Given the description of an element on the screen output the (x, y) to click on. 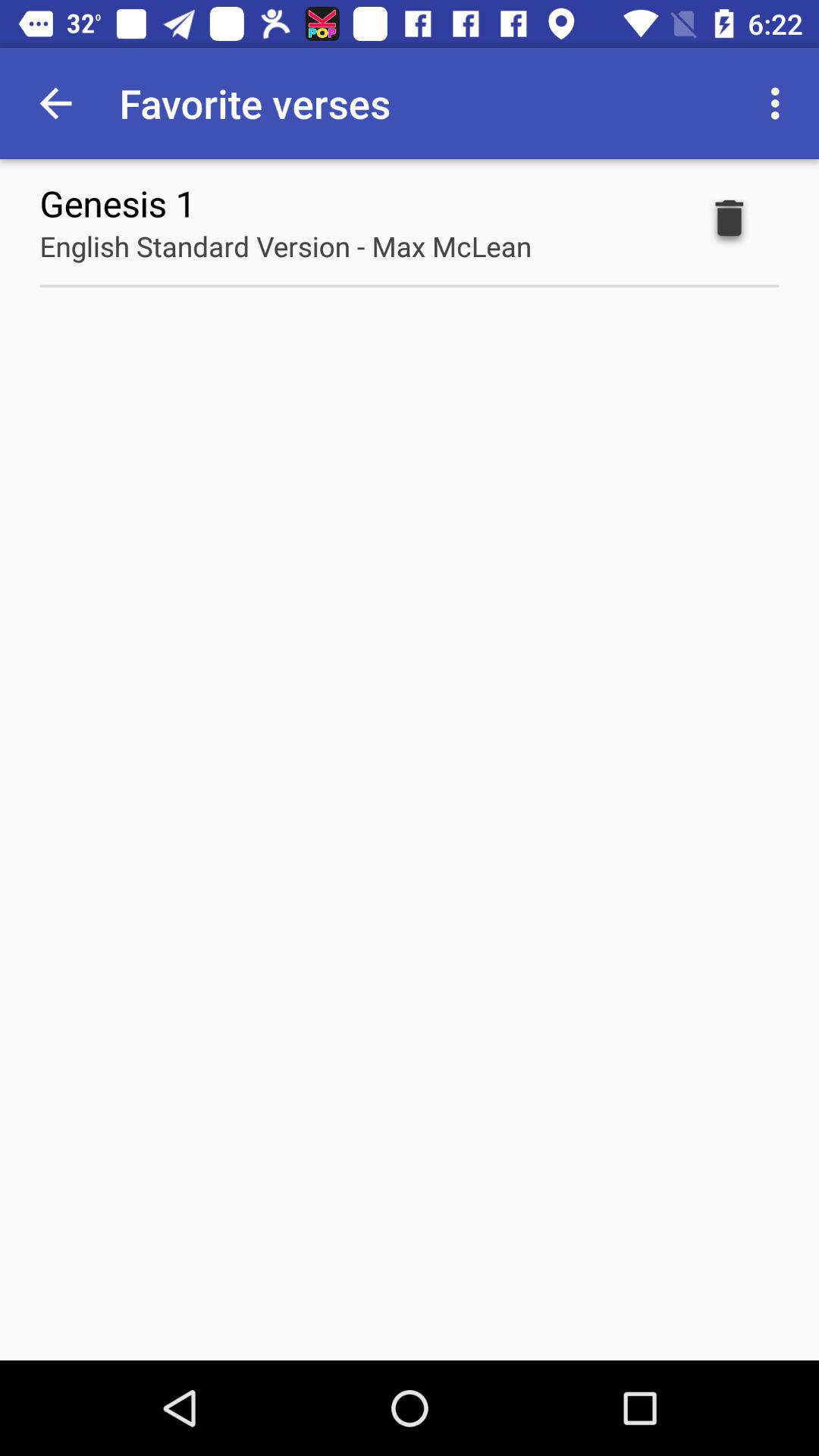
turn off item at the top (285, 246)
